Given the description of an element on the screen output the (x, y) to click on. 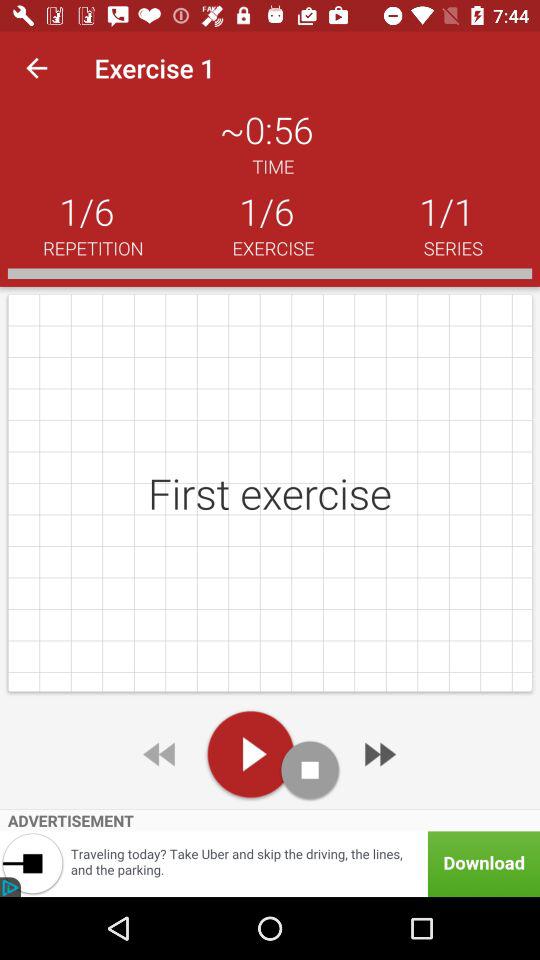
pause exercise (309, 769)
